Given the description of an element on the screen output the (x, y) to click on. 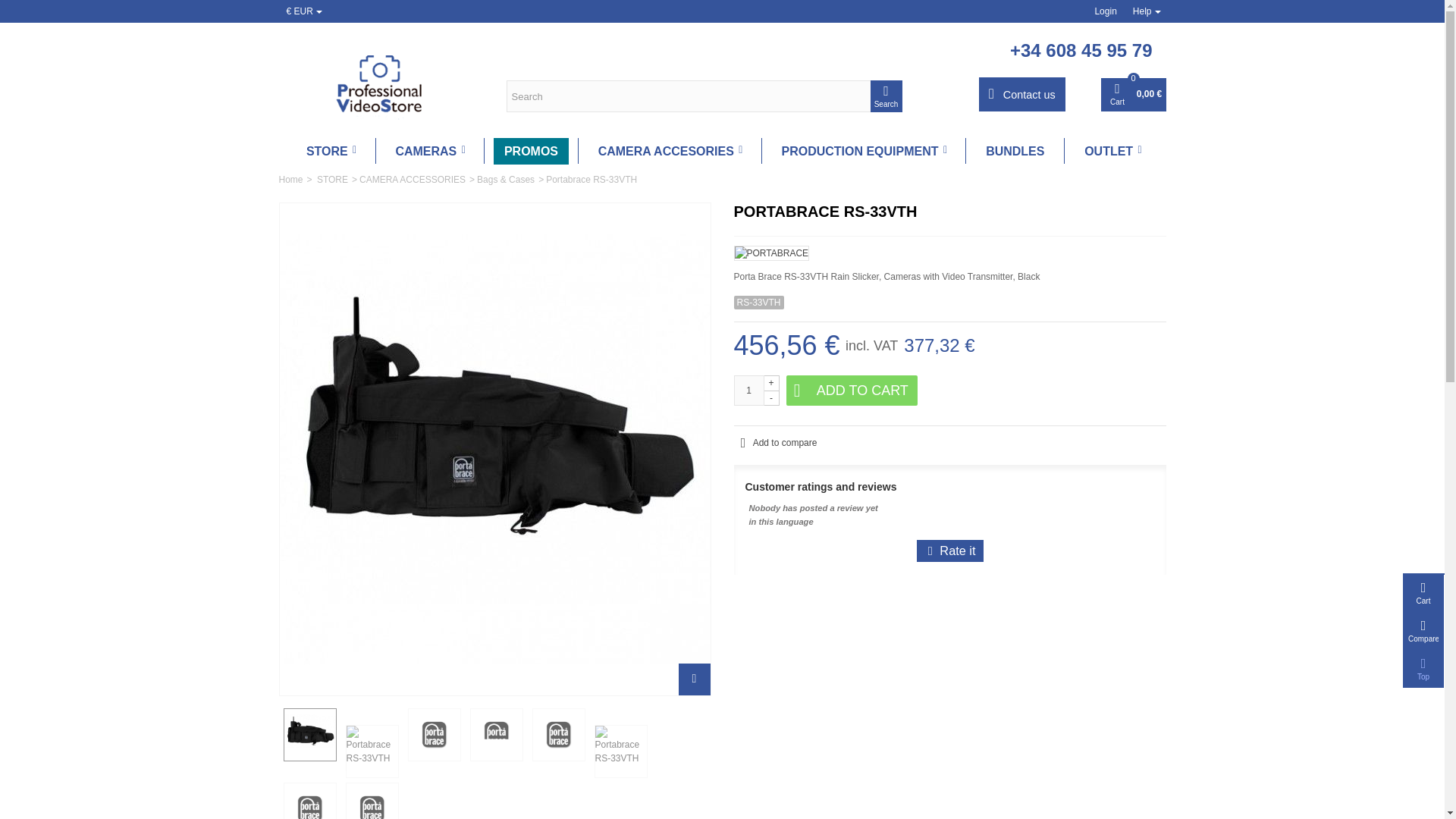
Log in to your customer account (1105, 11)
Contact us (1021, 93)
Login (1105, 11)
Search (886, 96)
Contact us (1021, 93)
Professional Video Store (381, 79)
1 (748, 390)
View my shopping cart (1133, 94)
Search (886, 96)
STORE (330, 151)
